Given the description of an element on the screen output the (x, y) to click on. 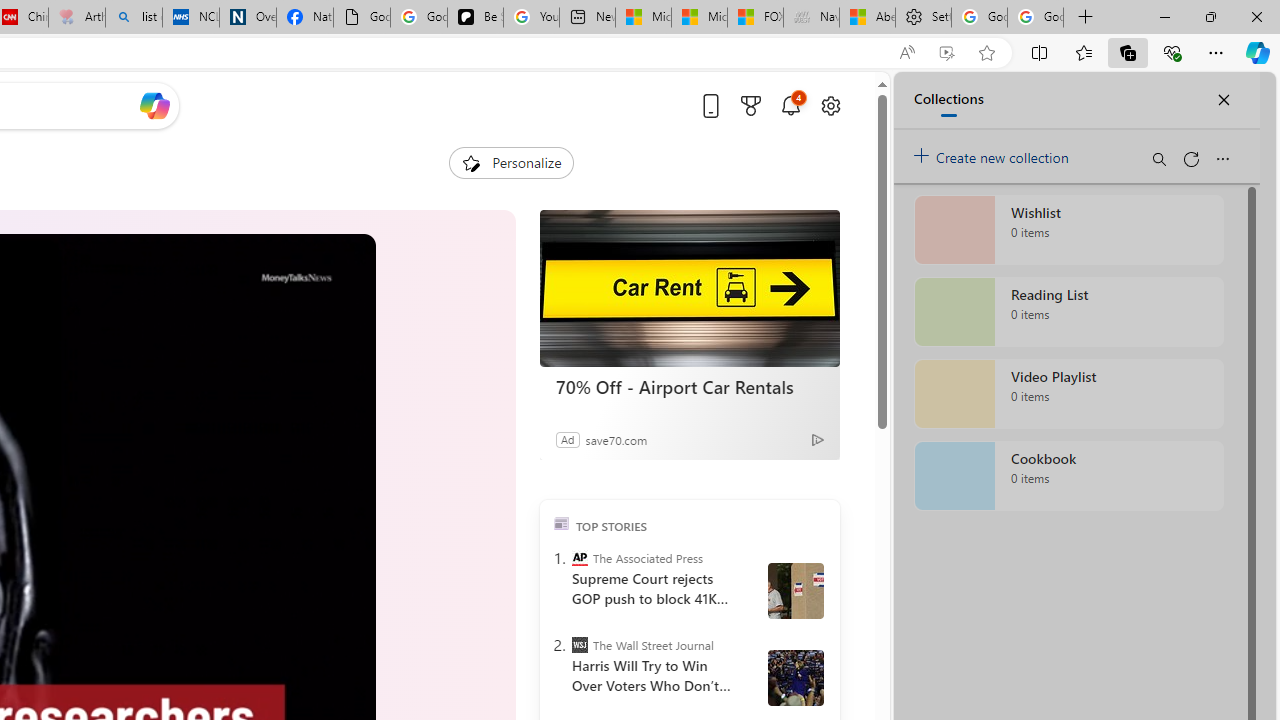
The Associated Press (579, 557)
